Given the description of an element on the screen output the (x, y) to click on. 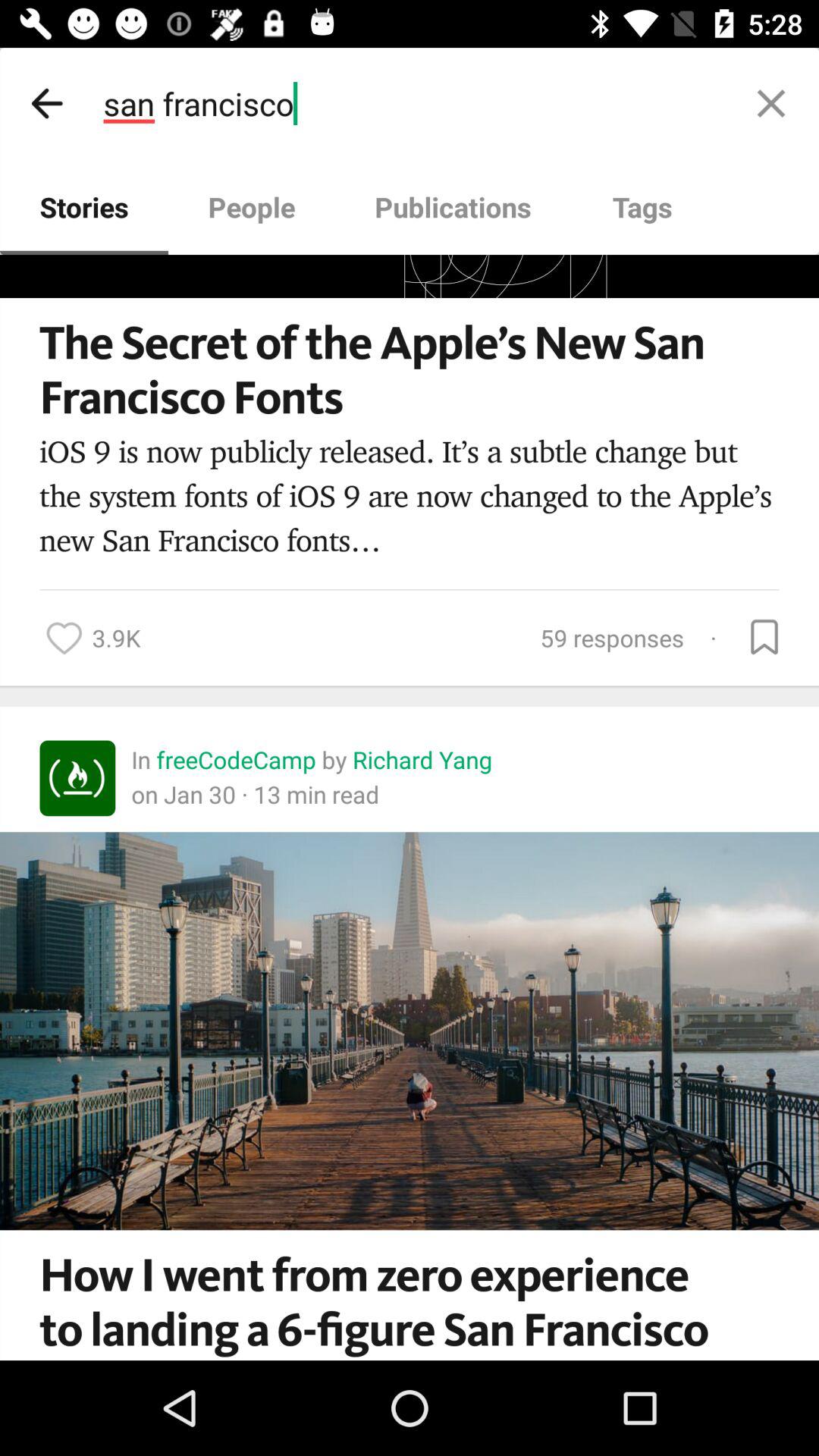
click on the clear button (771, 103)
click on the icon which is above the image (77, 778)
